Given the description of an element on the screen output the (x, y) to click on. 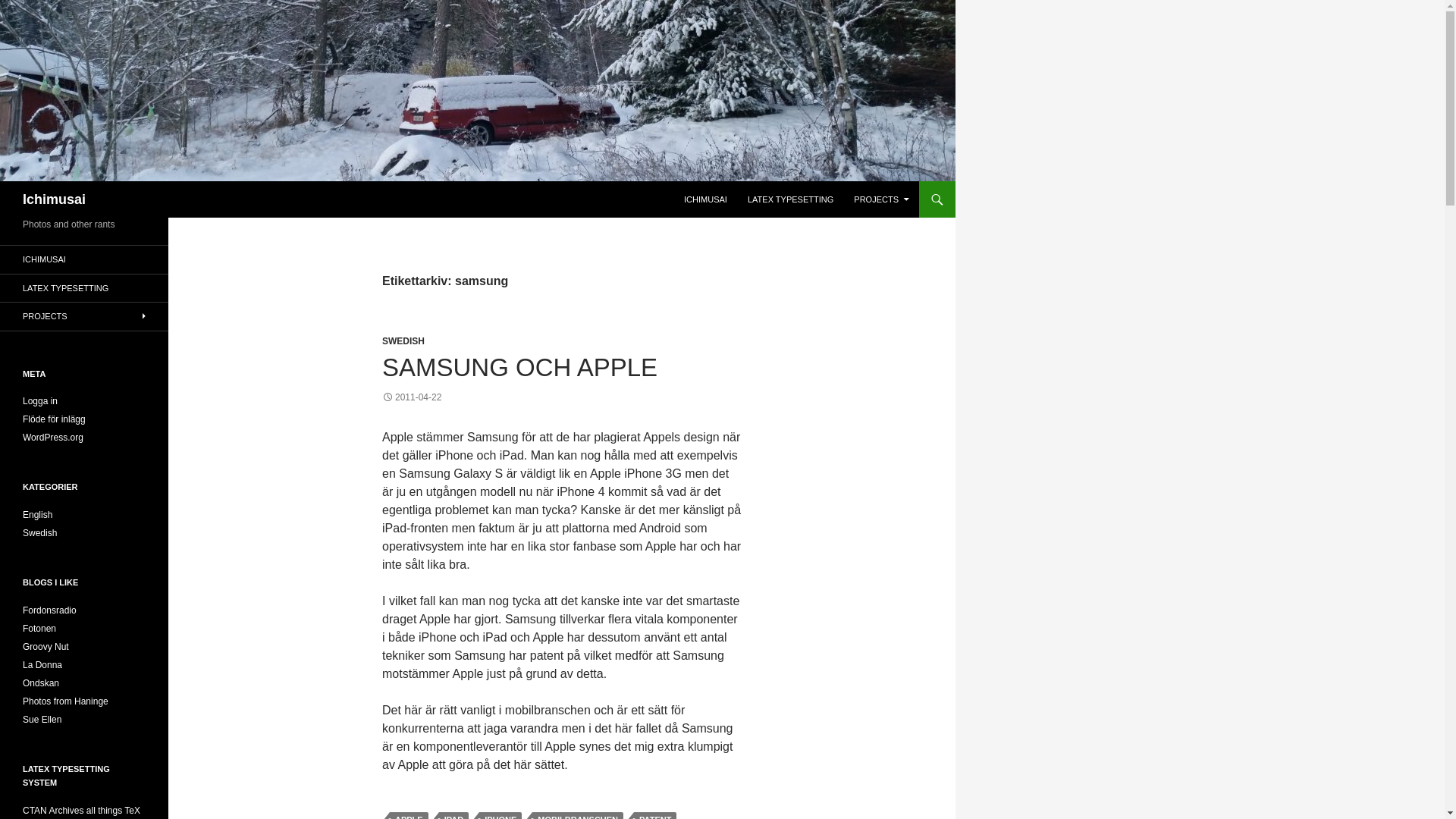
PATENT (655, 815)
MOBILBRANSCHEN (577, 815)
2011-04-22 (411, 397)
SWEDISH (403, 340)
En kollaborativ sajt om fotografering (39, 628)
Ichimusai (54, 198)
Linda Hedins blog (42, 719)
SAMSUNG OCH APPLE (519, 366)
PROJECTS (881, 198)
IPHONE (500, 815)
All in Swedish (41, 683)
APPLE (409, 815)
ICHIMUSAI (705, 198)
IPAD (453, 815)
LATEX TYPESETTING (790, 198)
